Given the description of an element on the screen output the (x, y) to click on. 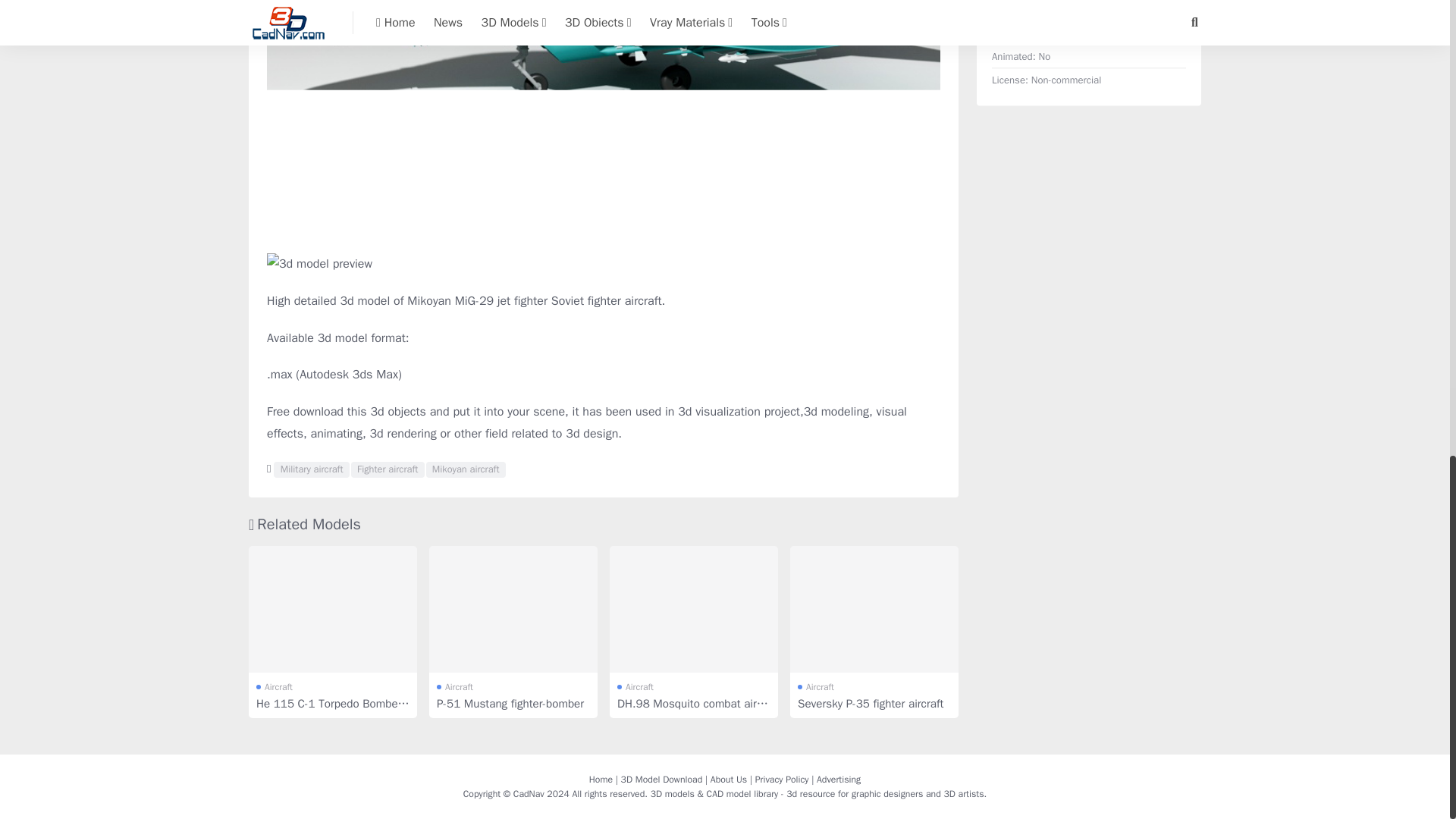
Military aircraft 3d model (311, 469)
He 115 C-1 Torpedo Bomber Seapl 3d model download (332, 609)
DH.98 Mosquito combat aircraft 3d model download (693, 609)
Fighter aircraft 3d model (387, 469)
P-51 Mustang fighter-bomber 3d model download (512, 609)
Seversky P-35 fighter aircraft 3d model download (874, 609)
Mikoyan aircraft 3d model (465, 469)
